Given the description of an element on the screen output the (x, y) to click on. 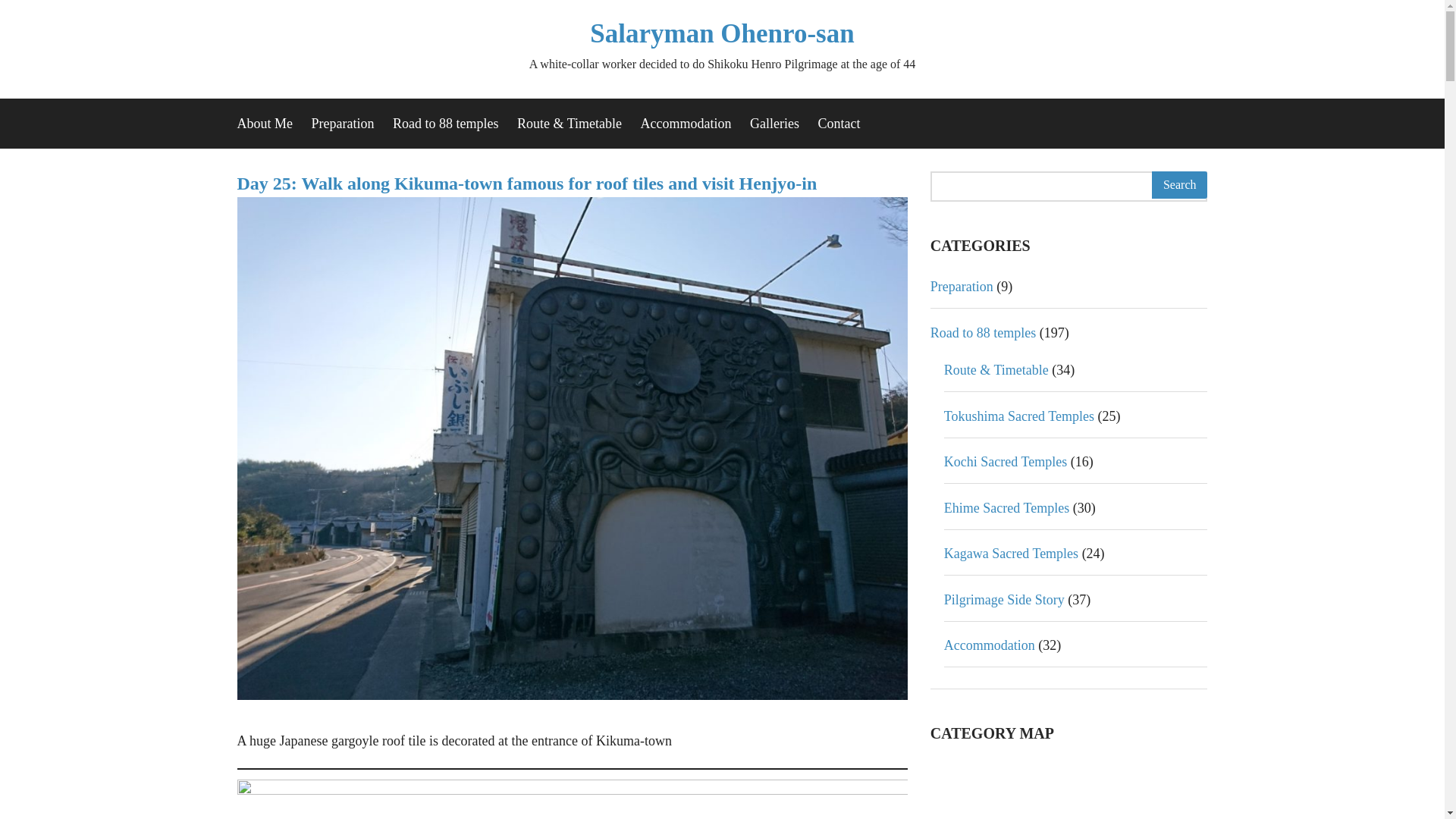
Road to 88 temples (445, 123)
About Me (263, 123)
Kochi Sacred Temples (1005, 461)
Search (1179, 185)
Galleries (774, 123)
Kagawa Sacred Temples (1010, 553)
Search (1179, 185)
Preparation (342, 123)
Tokushima Sacred Temples (1018, 415)
Accommodation (989, 645)
Ehime Sacred Temples (1005, 507)
Preparation (961, 286)
Accommodation (685, 123)
